Given the description of an element on the screen output the (x, y) to click on. 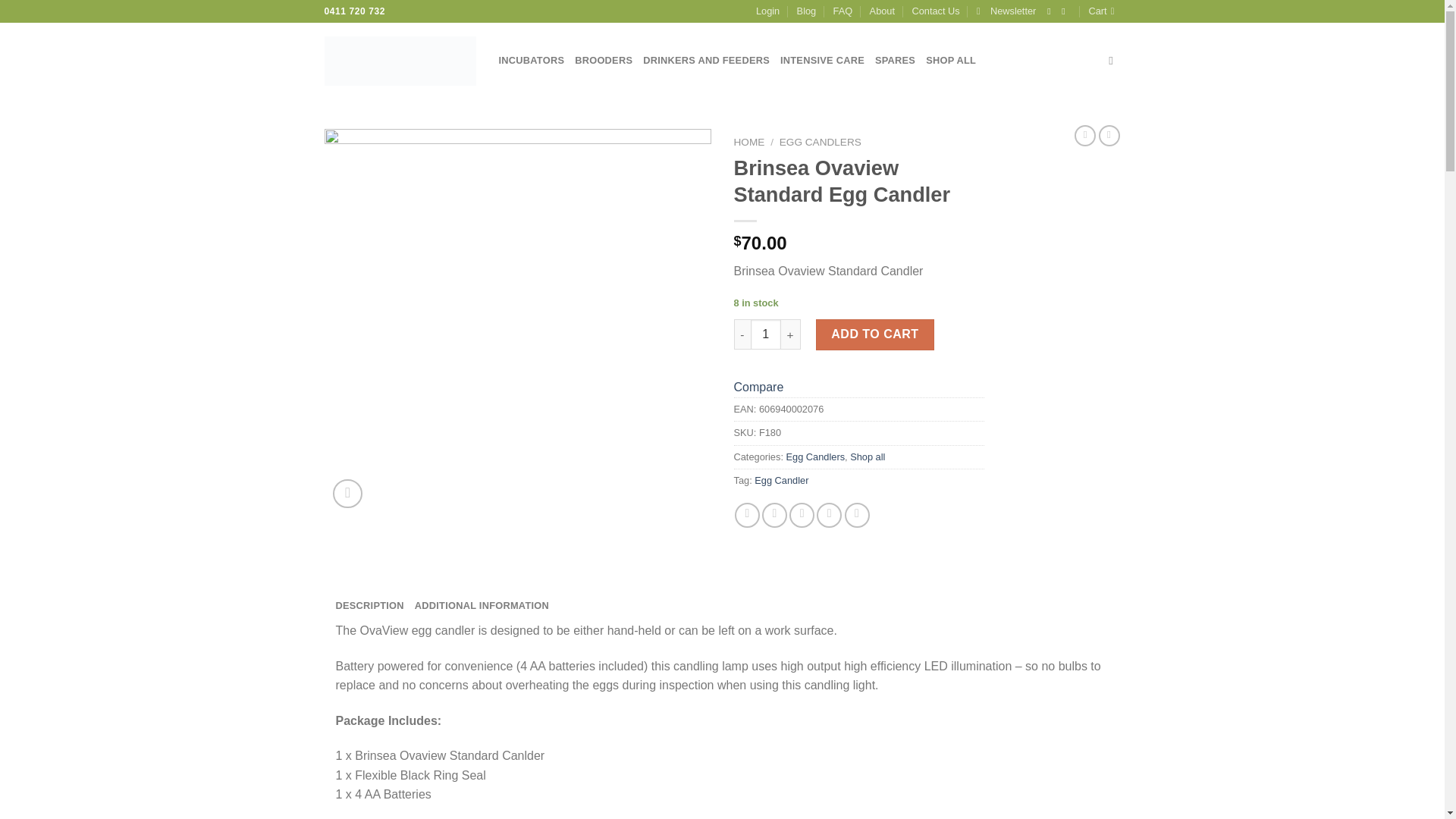
Contact Us (935, 11)
SHOP ALL (950, 60)
Egg Candler (781, 480)
Share on LinkedIn (856, 514)
Share on Facebook (747, 514)
Cart (1105, 11)
EGG CANDLERS (819, 142)
Share on Twitter (774, 514)
INCUBATORS (531, 60)
Blog (806, 11)
Zoom (347, 493)
ADD TO CART (874, 334)
Follow on Facebook (1051, 10)
Email to a Friend (801, 514)
Top Knot Poultry Supplies - Brinsea Incubation Specialists (400, 60)
